Given the description of an element on the screen output the (x, y) to click on. 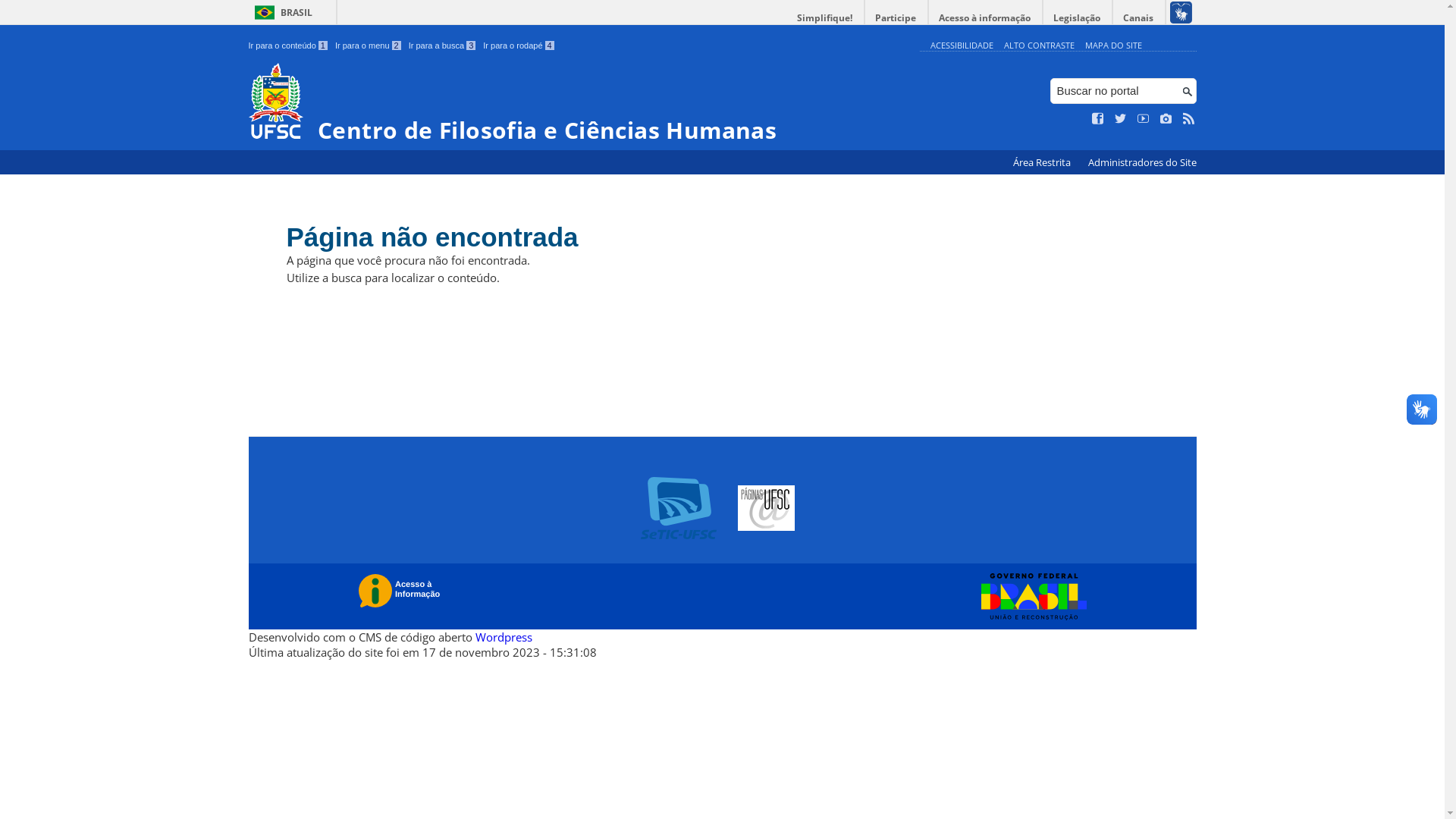
BRASIL Element type: text (280, 12)
ACESSIBILIDADE Element type: text (960, 44)
Canais Element type: text (1138, 18)
Veja no Instagram Element type: hover (1166, 118)
Administradores do Site Element type: text (1141, 162)
MAPA DO SITE Element type: text (1112, 44)
Governo Federal Element type: hover (1029, 596)
Ir para o menu 2 Element type: text (368, 45)
Curta no Facebook Element type: hover (1098, 118)
Ir para a busca 3 Element type: text (442, 45)
Wordpress Element type: text (502, 636)
Participe Element type: text (895, 18)
ALTO CONTRASTE Element type: text (1039, 44)
Simplifique! Element type: text (825, 18)
Siga no Twitter Element type: hover (1120, 118)
